Given the description of an element on the screen output the (x, y) to click on. 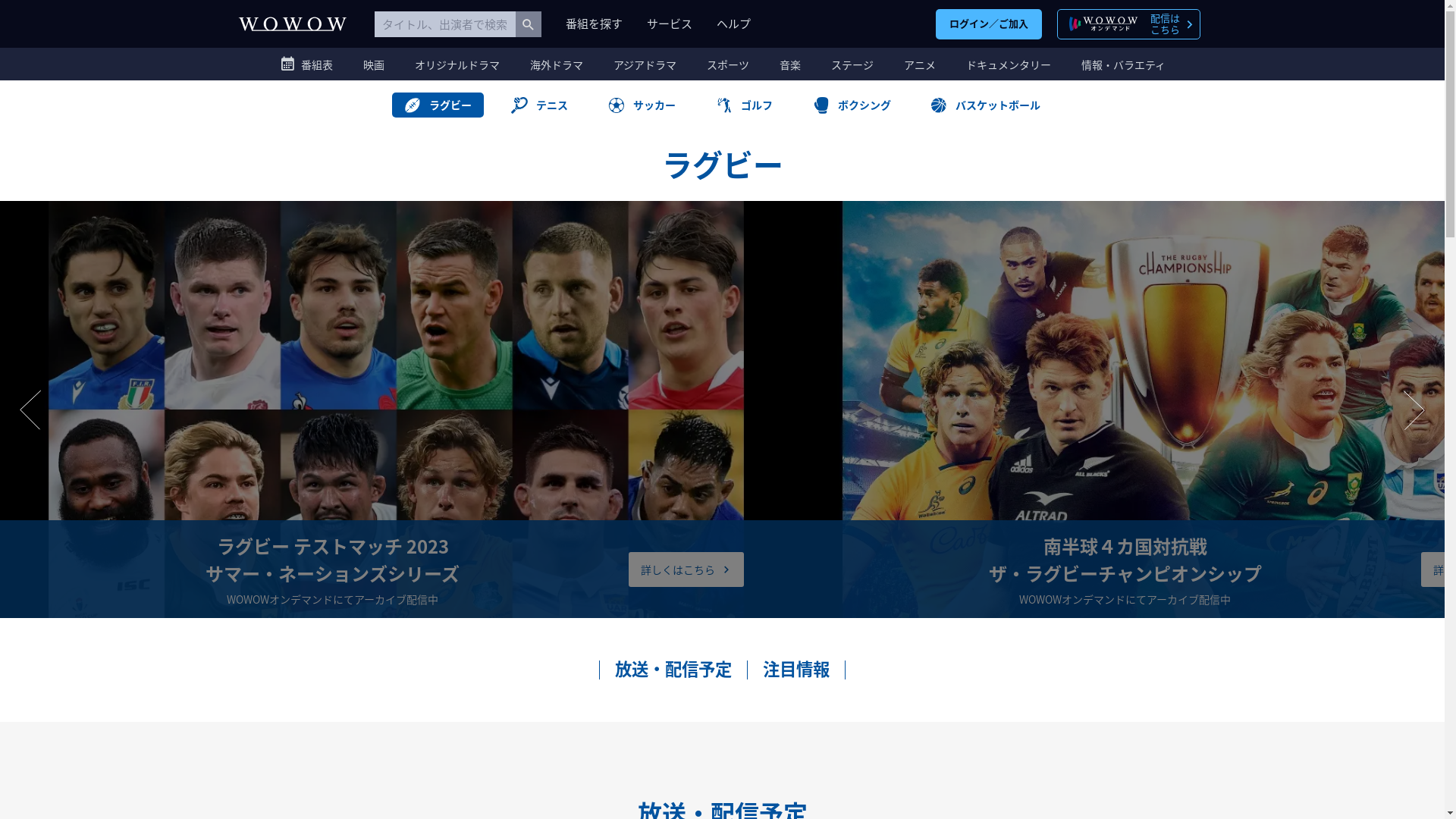
WOWOW Element type: text (291, 23)
